Given the description of an element on the screen output the (x, y) to click on. 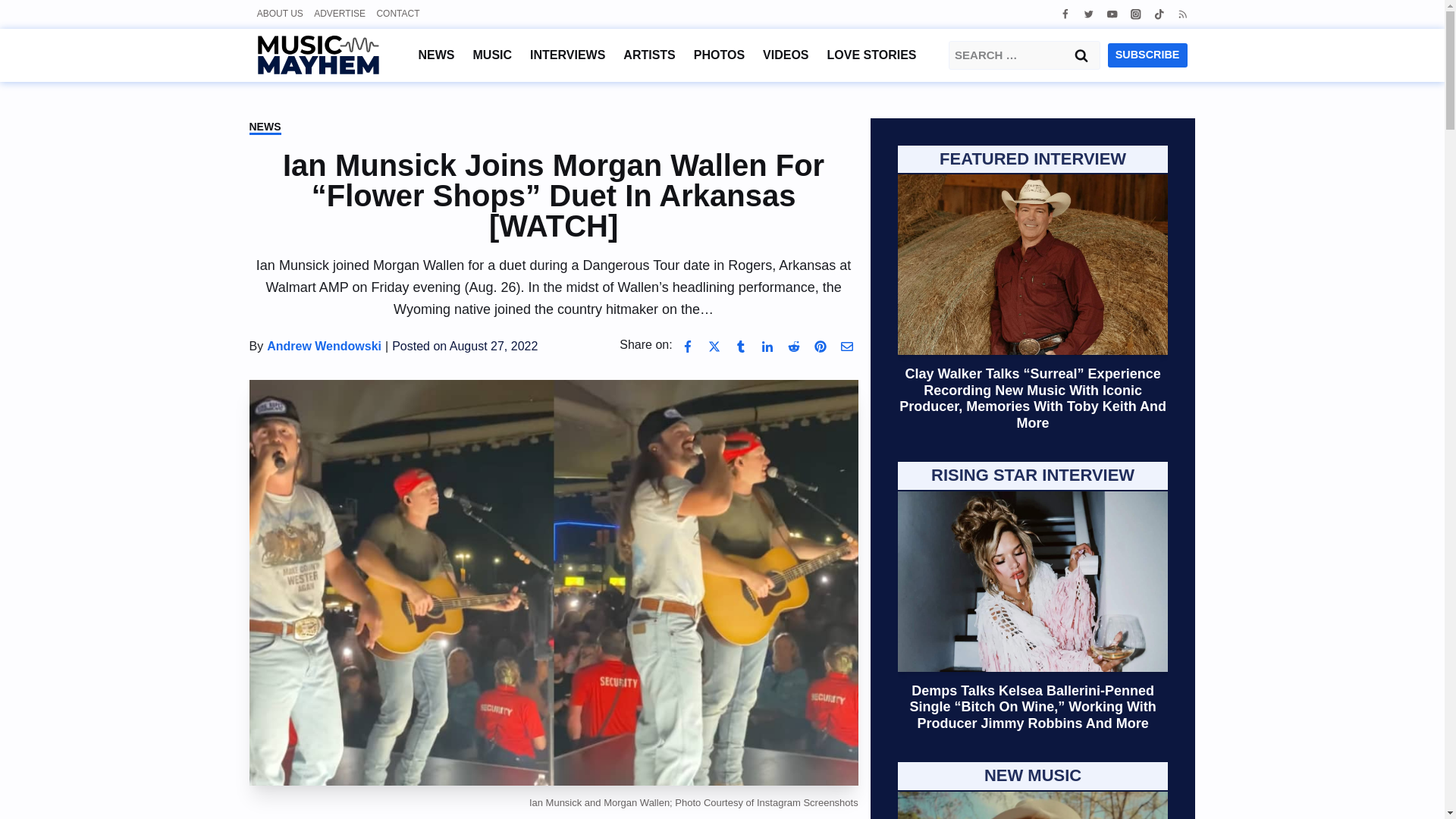
ARTISTS (649, 54)
CONTACT (398, 13)
VIDEOS (785, 54)
PHOTOS (719, 54)
ADVERTISE (339, 13)
MUSIC (492, 54)
SUBSCRIBE (1148, 55)
LOVE STORIES (872, 54)
NEWS (264, 127)
NEWS (436, 54)
